Given the description of an element on the screen output the (x, y) to click on. 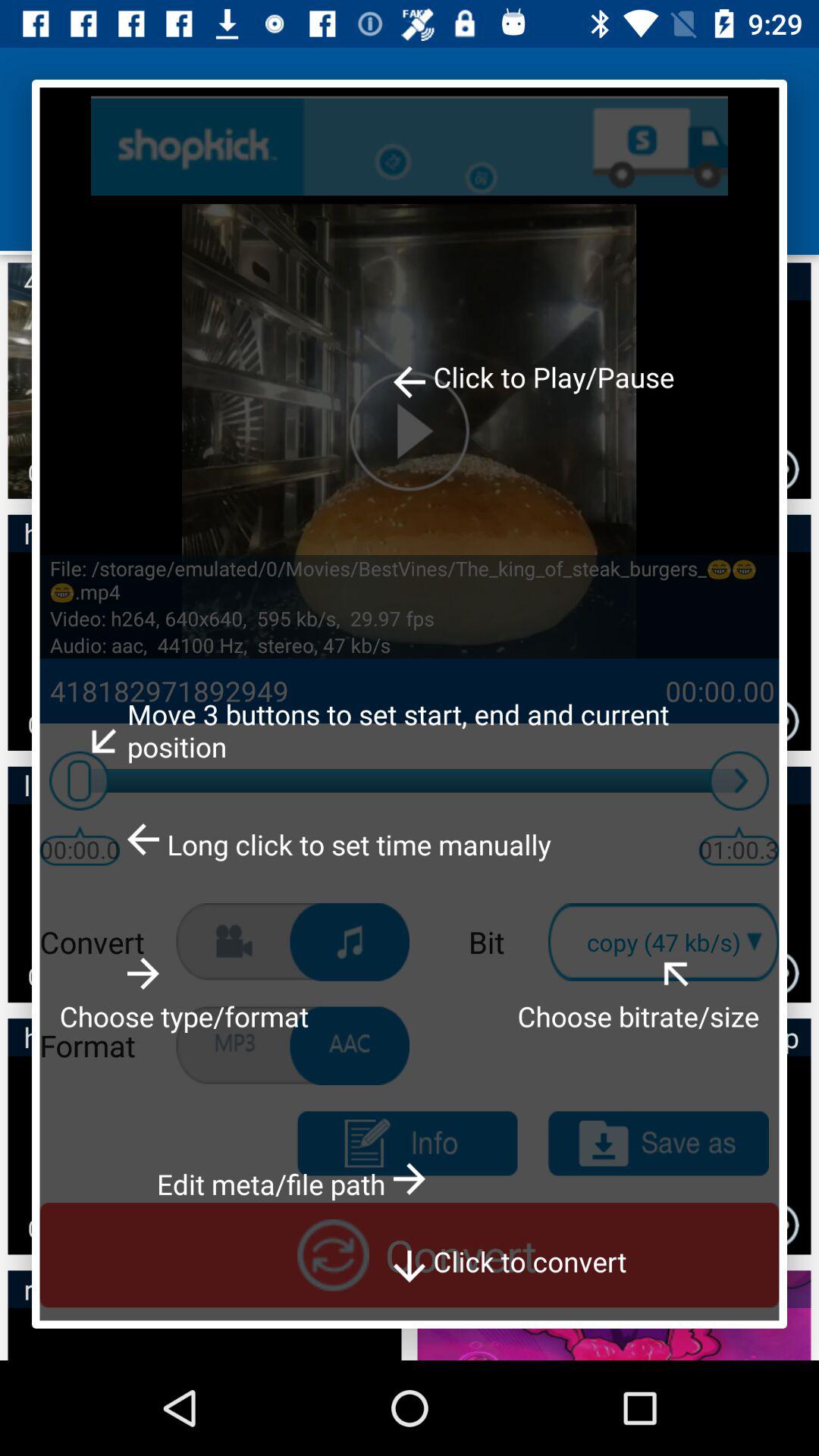
search button (409, 145)
